Given the description of an element on the screen output the (x, y) to click on. 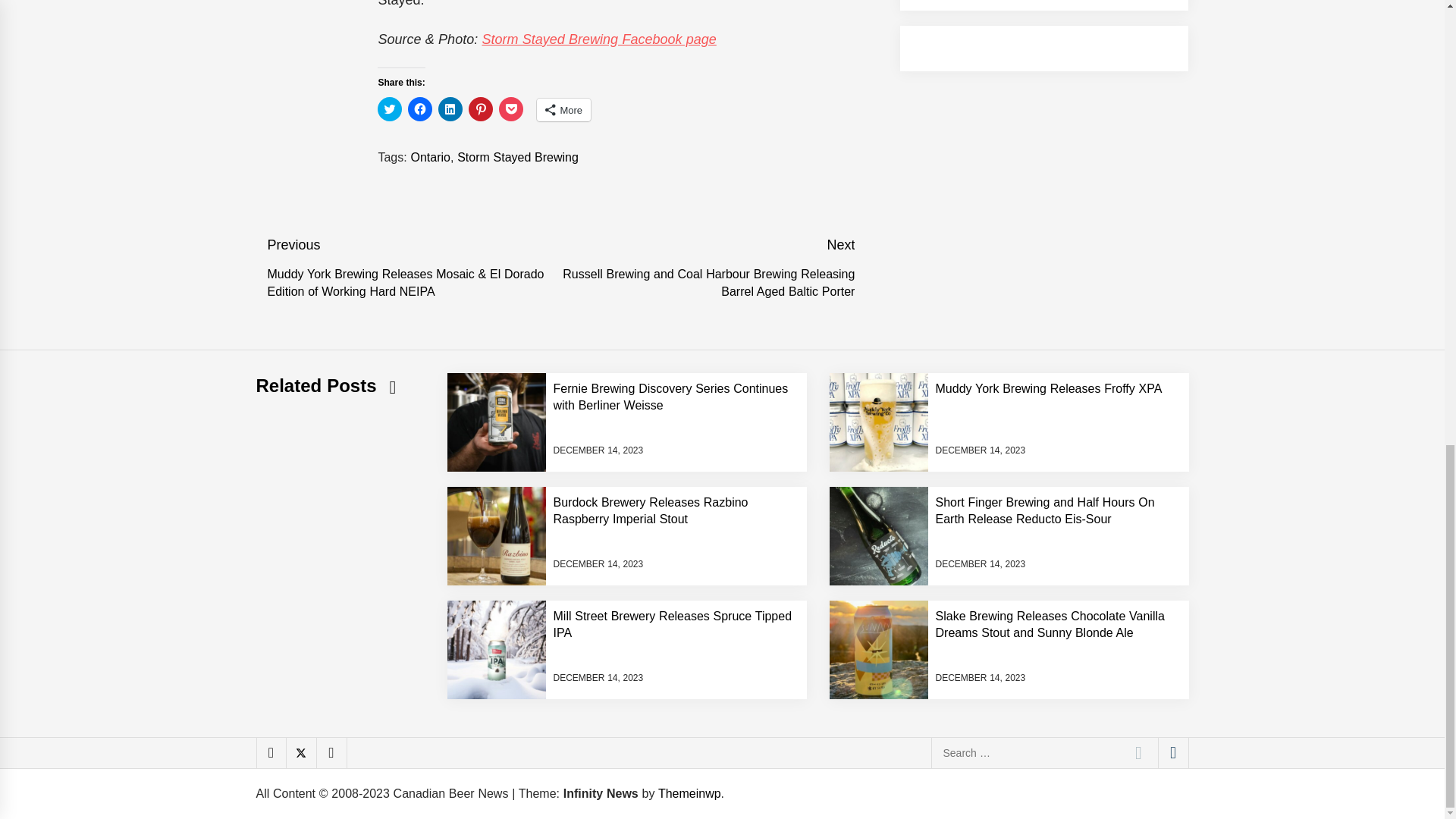
Search (1138, 752)
Ontario (429, 156)
Click to share on Pocket (510, 109)
Click to share on Pinterest (480, 109)
Click to share on Facebook (419, 109)
Search (1138, 752)
Storm Stayed Brewing Facebook page (598, 38)
Click to share on Twitter (389, 109)
Click to share on LinkedIn (450, 109)
Storm Stayed Brewing (517, 156)
More (564, 109)
